Given the description of an element on the screen output the (x, y) to click on. 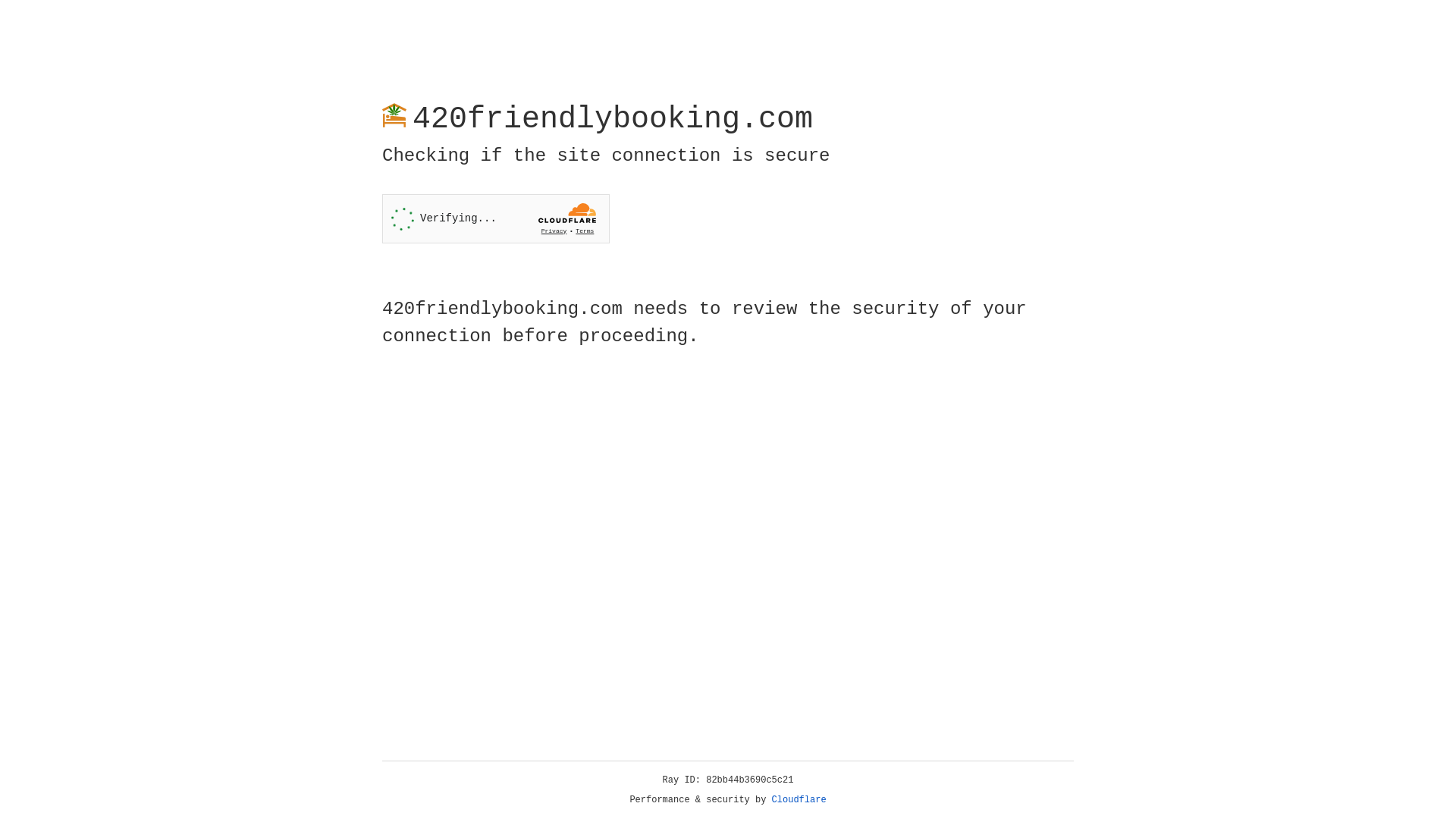
Widget containing a Cloudflare security challenge Element type: hover (495, 218)
Cloudflare Element type: text (798, 799)
